Given the description of an element on the screen output the (x, y) to click on. 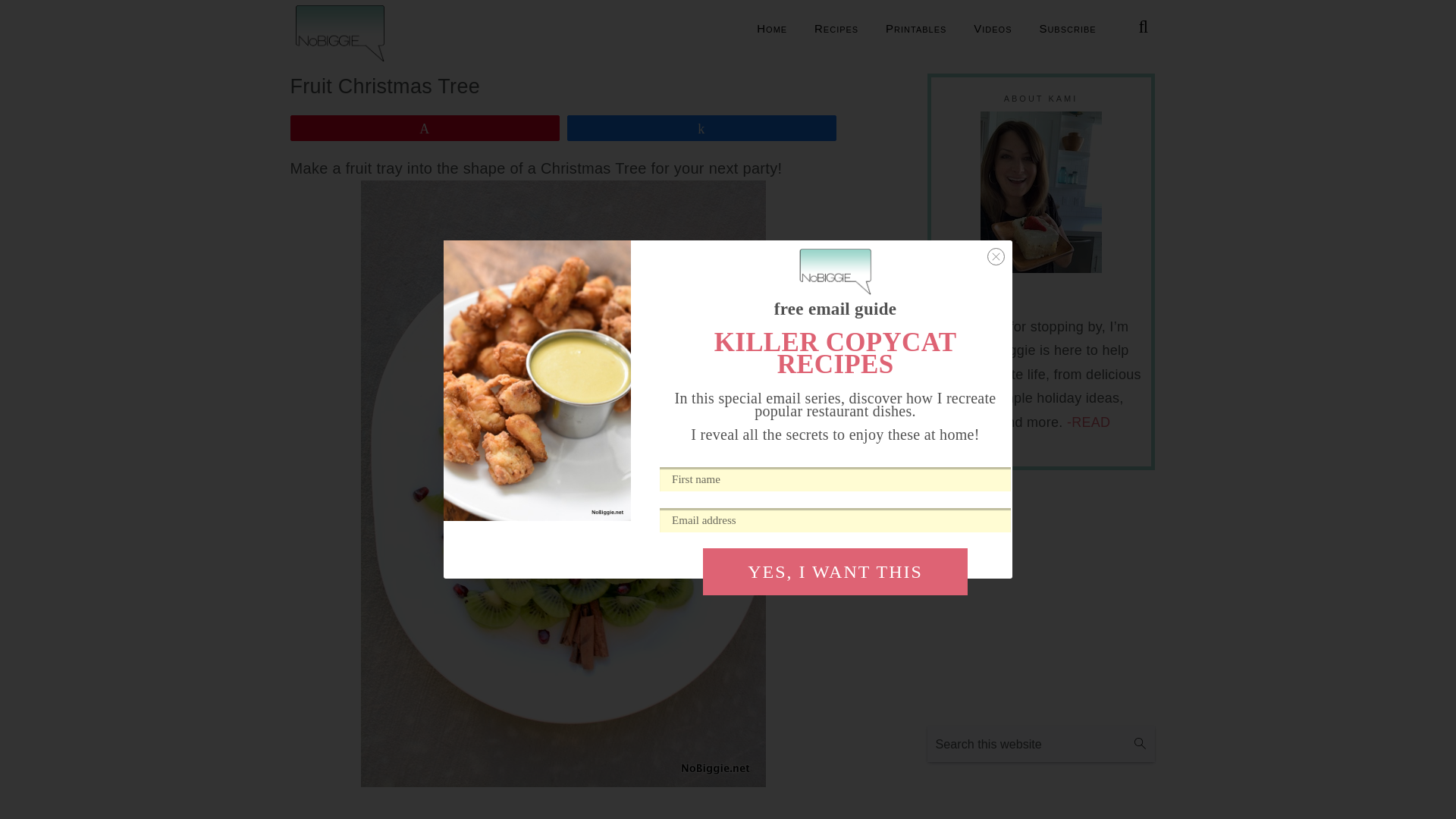
Recipes (836, 28)
Subscribe (1066, 28)
NoBiggie (339, 33)
Printables (916, 28)
Home (771, 28)
Videos (992, 28)
